Given the description of an element on the screen output the (x, y) to click on. 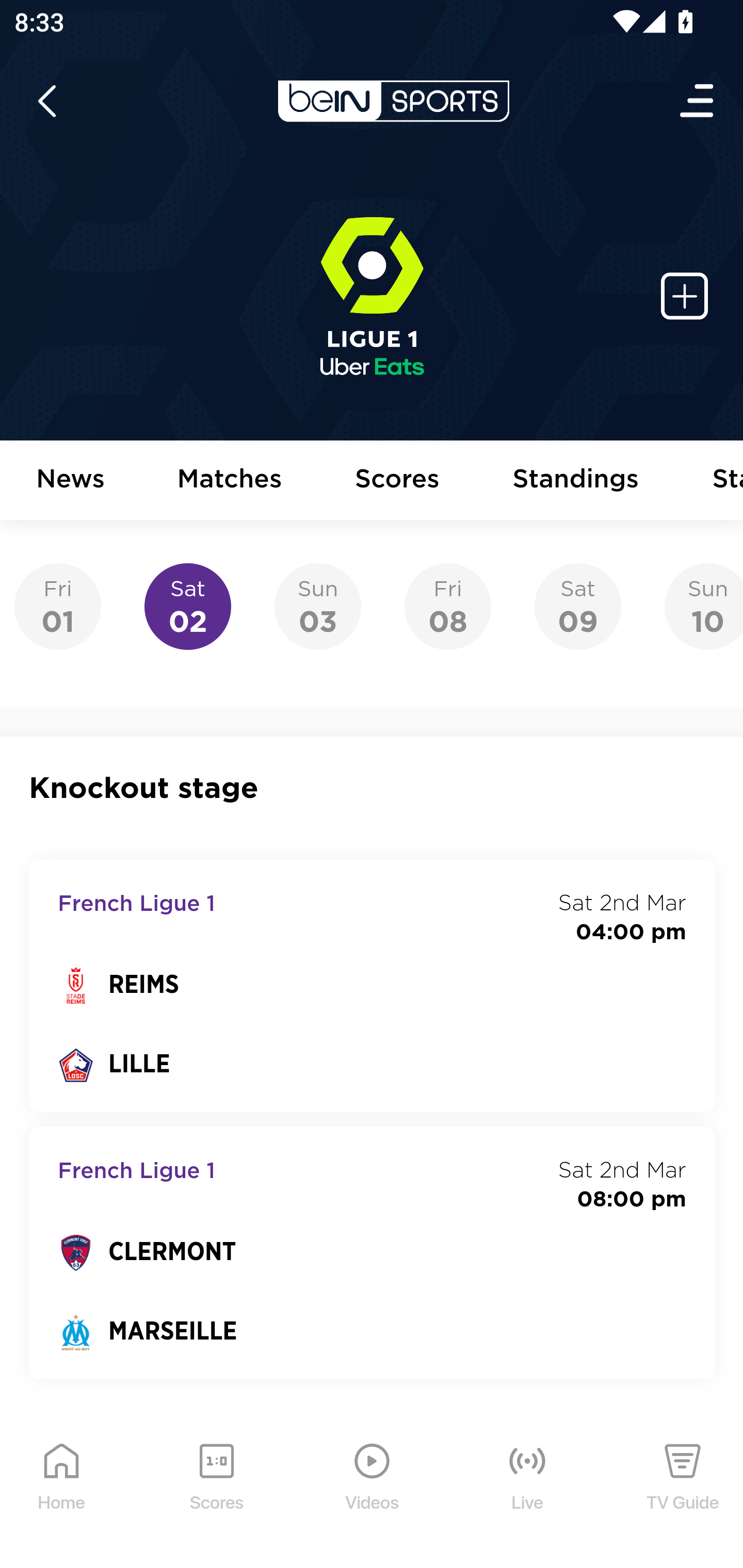
en-us?platform=mobile_android bein logo white (392, 101)
icon back (46, 101)
Open Menu Icon (697, 101)
News (70, 480)
Matches (229, 480)
Scores (397, 480)
Standings (575, 480)
Fri01 (58, 606)
Sat02 (187, 606)
Sun03 (318, 606)
Fri08 (447, 606)
Sat09 (578, 606)
Sun10 (703, 606)
Knockout stage (372, 787)
Home Home Icon Home (61, 1491)
Scores Scores Icon Scores (216, 1491)
Videos Videos Icon Videos (372, 1491)
TV Guide TV Guide Icon TV Guide (682, 1491)
